Given the description of an element on the screen output the (x, y) to click on. 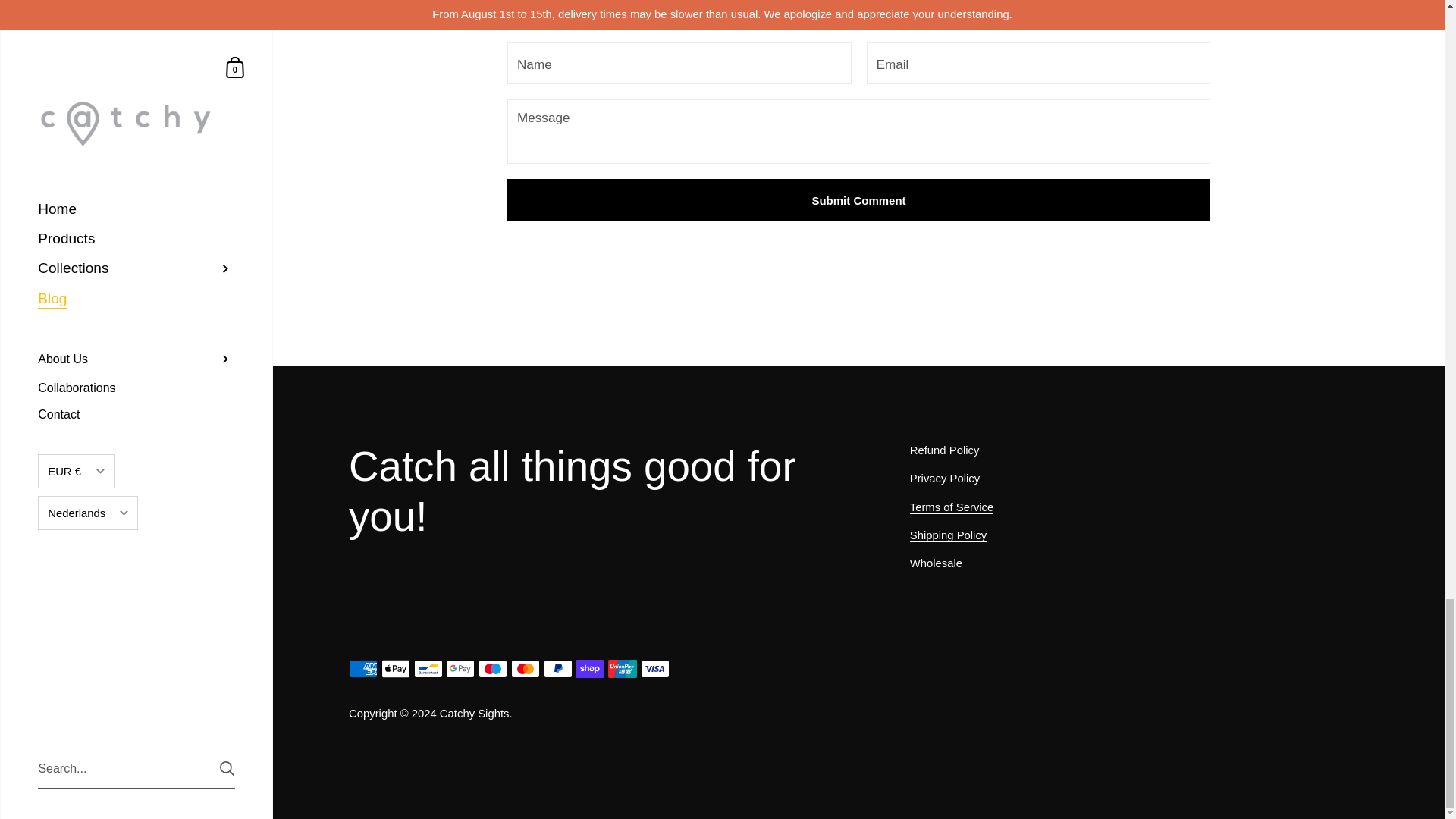
Shop Pay (589, 669)
Mastercard (525, 669)
Visa (654, 669)
Maestro (492, 669)
Submit Comment (857, 199)
Union Pay (622, 669)
Google Pay (459, 669)
PayPal (557, 669)
American Express (363, 669)
Apple Pay (395, 669)
